Given the description of an element on the screen output the (x, y) to click on. 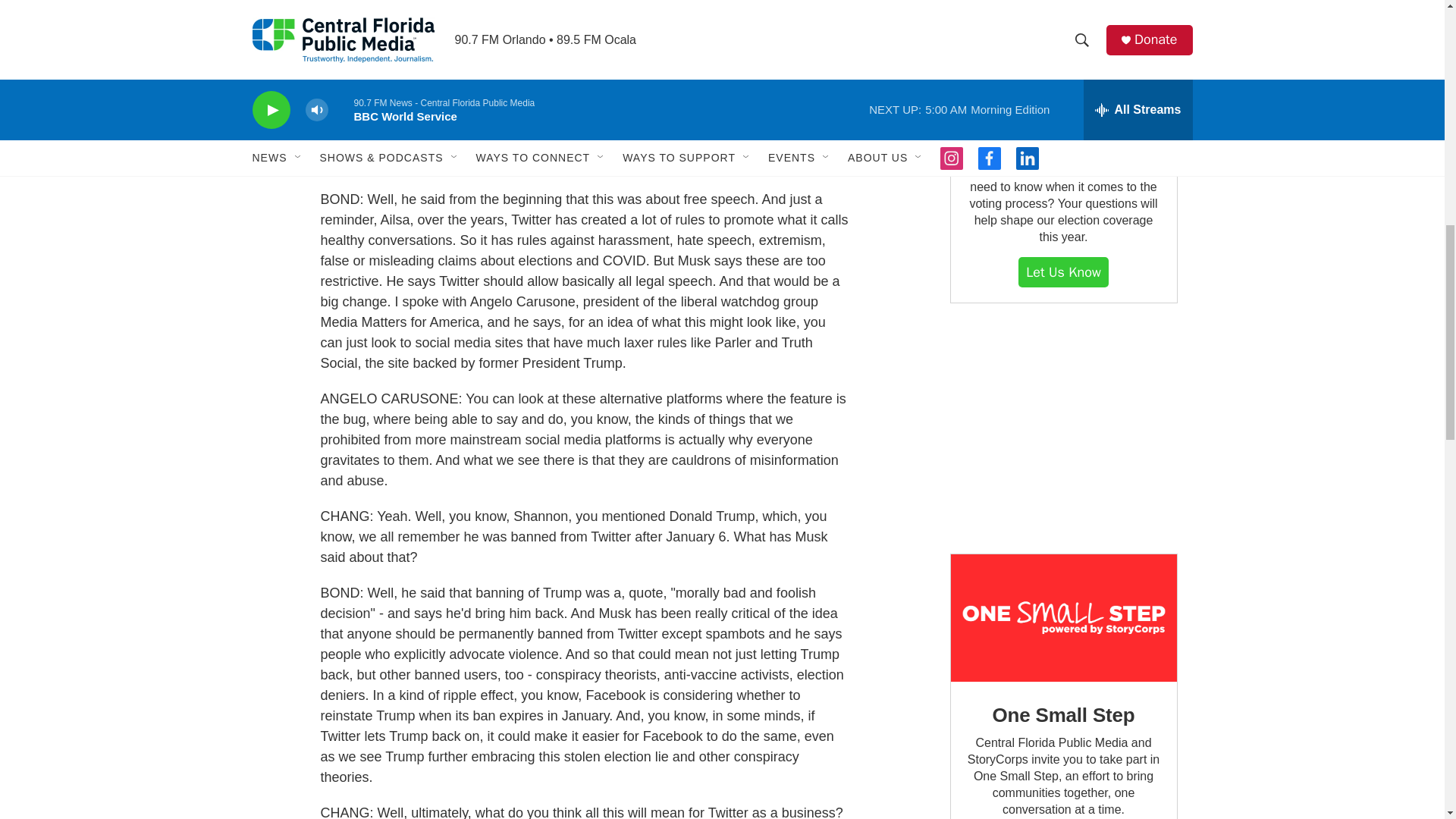
3rd party ad content (1062, 428)
